Given the description of an element on the screen output the (x, y) to click on. 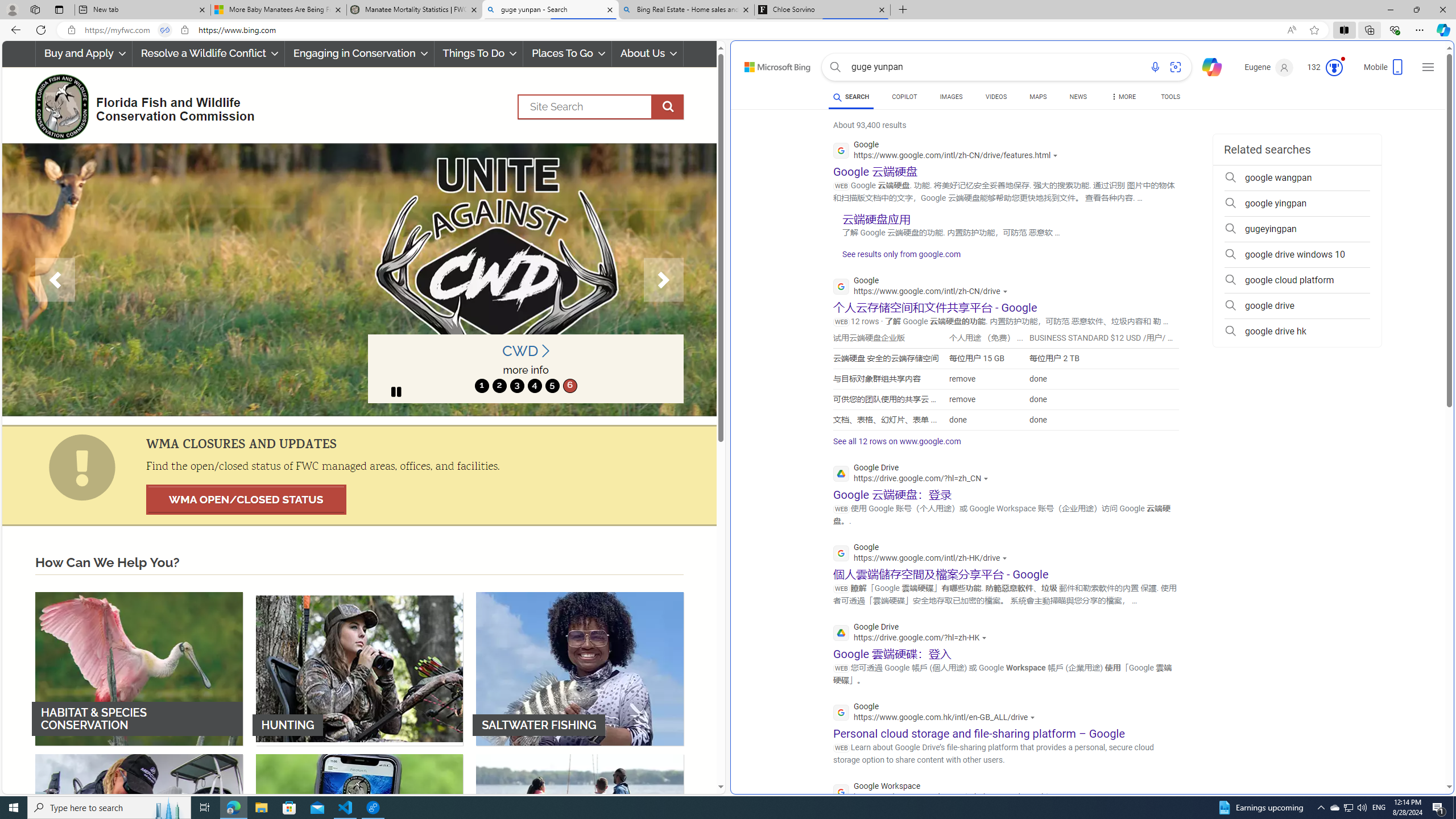
Resolve a Wildlife Conflict (208, 53)
Buy and Apply (84, 53)
MORE (1123, 98)
google wangpan (1297, 177)
About Us (647, 53)
google drive (1297, 305)
move to slide 5 (551, 385)
move to slide 4 (534, 385)
Settings and quick links (1428, 67)
Chat (1207, 65)
google drive windows 10 (1297, 254)
guge yunpan - Search (550, 9)
2 (499, 385)
CWD  (525, 351)
